Given the description of an element on the screen output the (x, y) to click on. 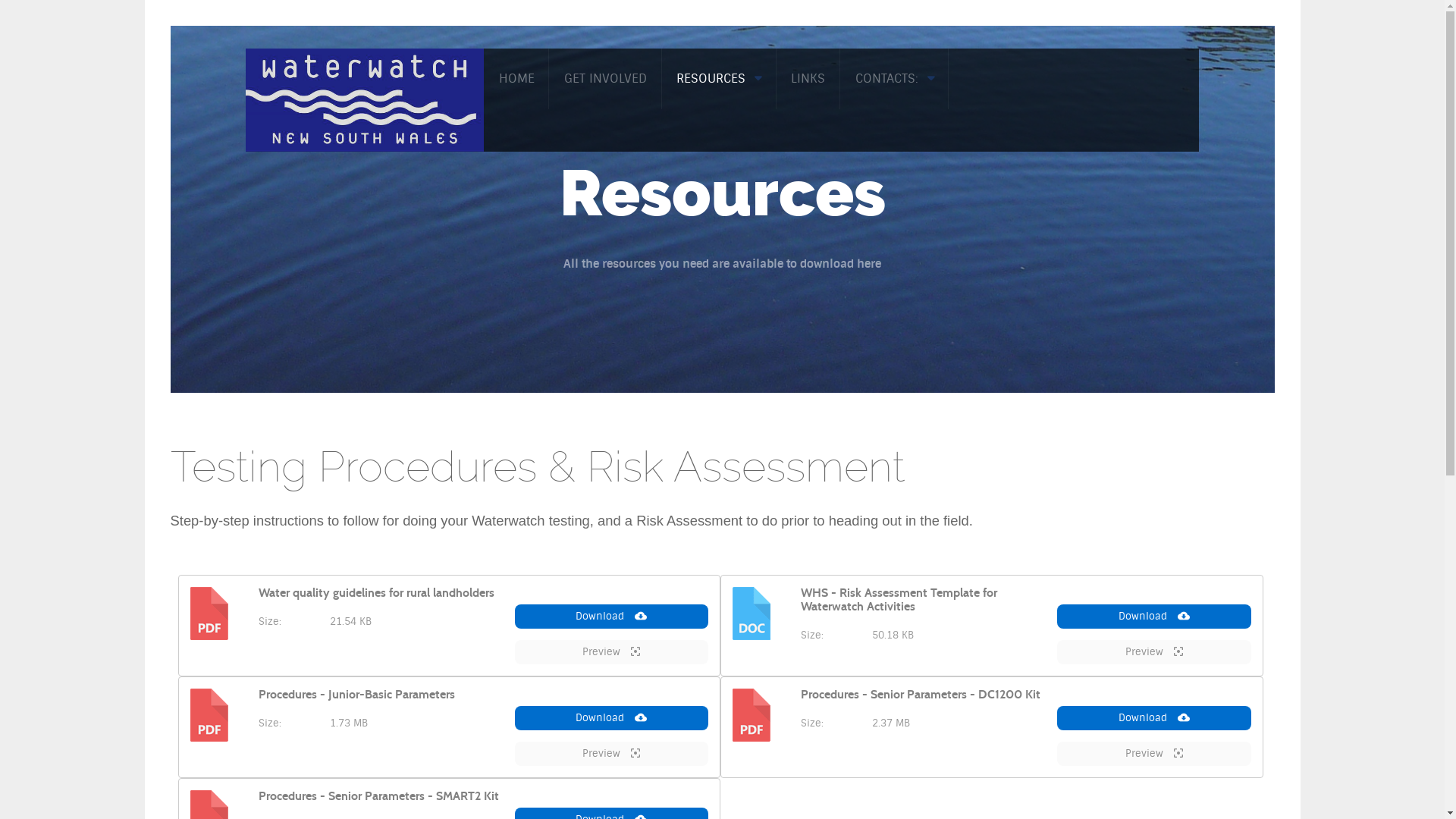
GET INVOLVED Element type: text (605, 78)
Download Element type: text (1153, 718)
Download Element type: text (611, 718)
WHS - Risk Assessment Template for Waterwatch Activities Element type: text (898, 599)
Preview Element type: text (611, 652)
RESOURCES Element type: text (719, 78)
NSW Waterwatch Element type: hover (364, 99)
LINKS Element type: text (808, 78)
Preview Element type: text (1153, 652)
Preview Element type: text (611, 753)
HOME Element type: text (516, 78)
Download Element type: text (611, 616)
Procedures - Senior Parameters - SMART2 Kit Element type: text (377, 796)
Procedures - Junior-Basic Parameters Element type: text (355, 694)
Procedures - Senior Parameters - DC1200 Kit Element type: text (920, 694)
Preview Element type: text (1153, 753)
CONTACTS: Element type: text (894, 78)
Water quality guidelines for rural landholders Element type: text (375, 592)
Download Element type: text (1153, 616)
